Given the description of an element on the screen output the (x, y) to click on. 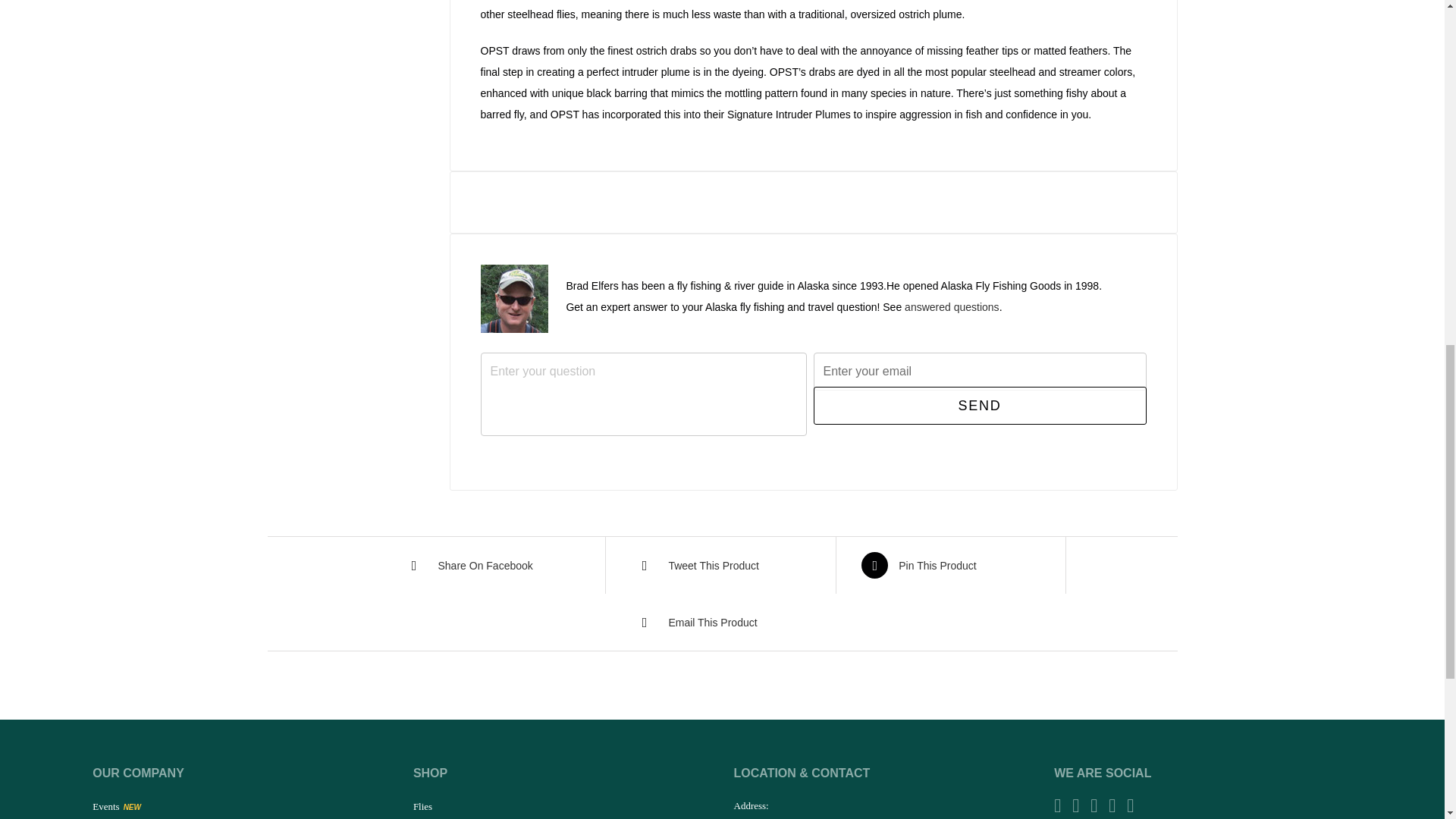
Send (978, 405)
